Given the description of an element on the screen output the (x, y) to click on. 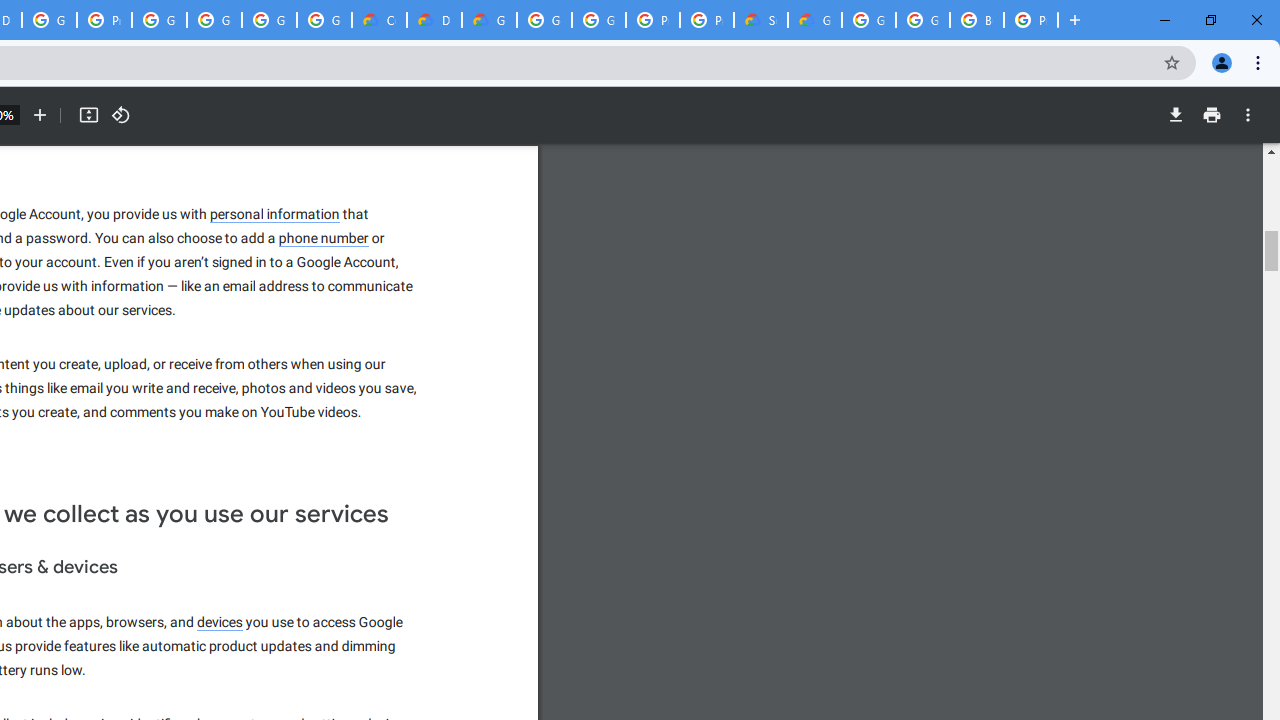
Google Workspace - Specific Terms (324, 20)
